Given the description of an element on the screen output the (x, y) to click on. 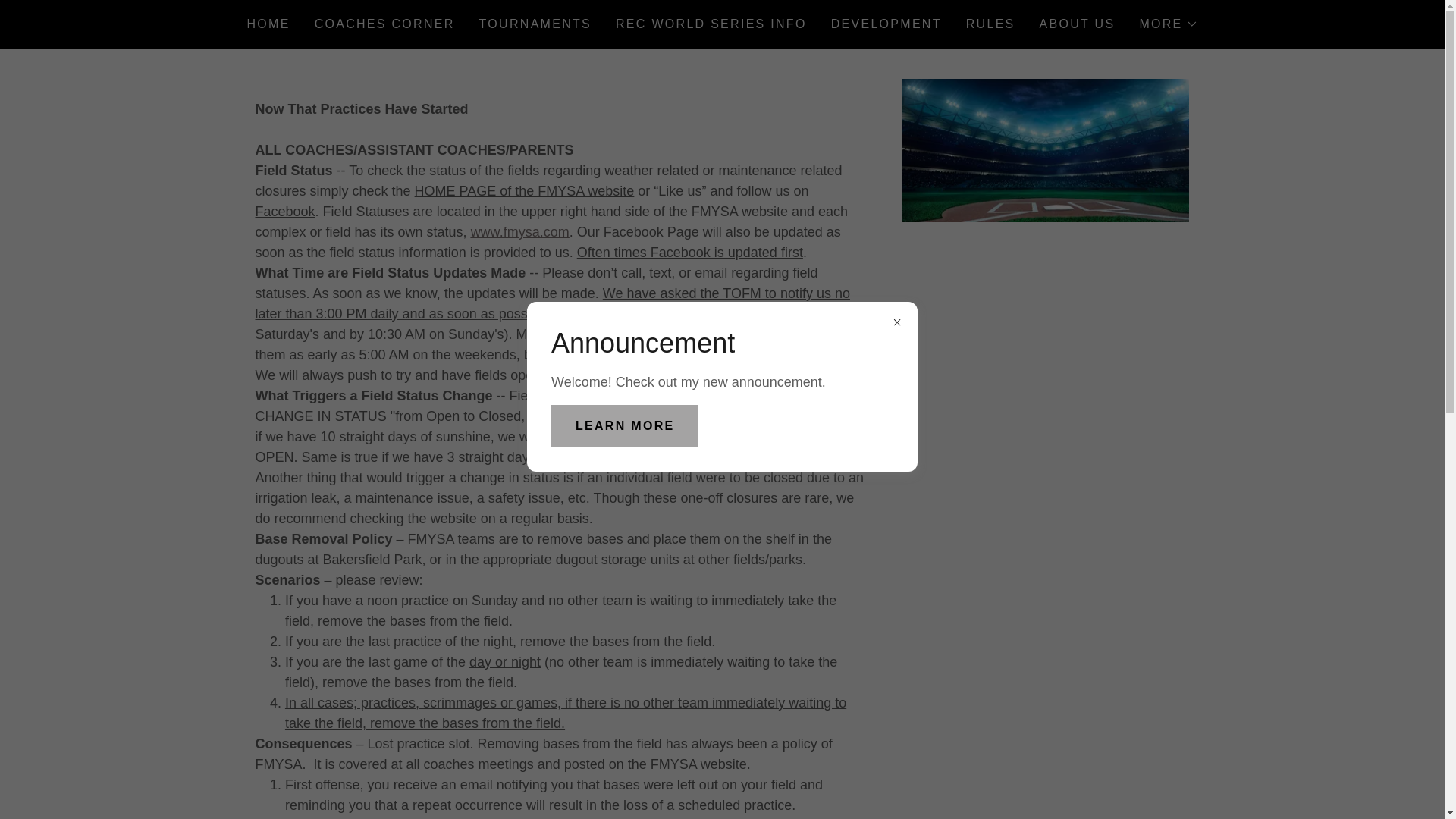
LEARN MORE (624, 425)
COACHES CORNER (385, 23)
ABOUT US (1077, 23)
REC WORLD SERIES INFO (710, 23)
DEVELOPMENT (886, 23)
HOME (267, 23)
MORE (1167, 24)
TOURNAMENTS (534, 23)
RULES (990, 23)
www.fmysa.com (519, 231)
